Given the description of an element on the screen output the (x, y) to click on. 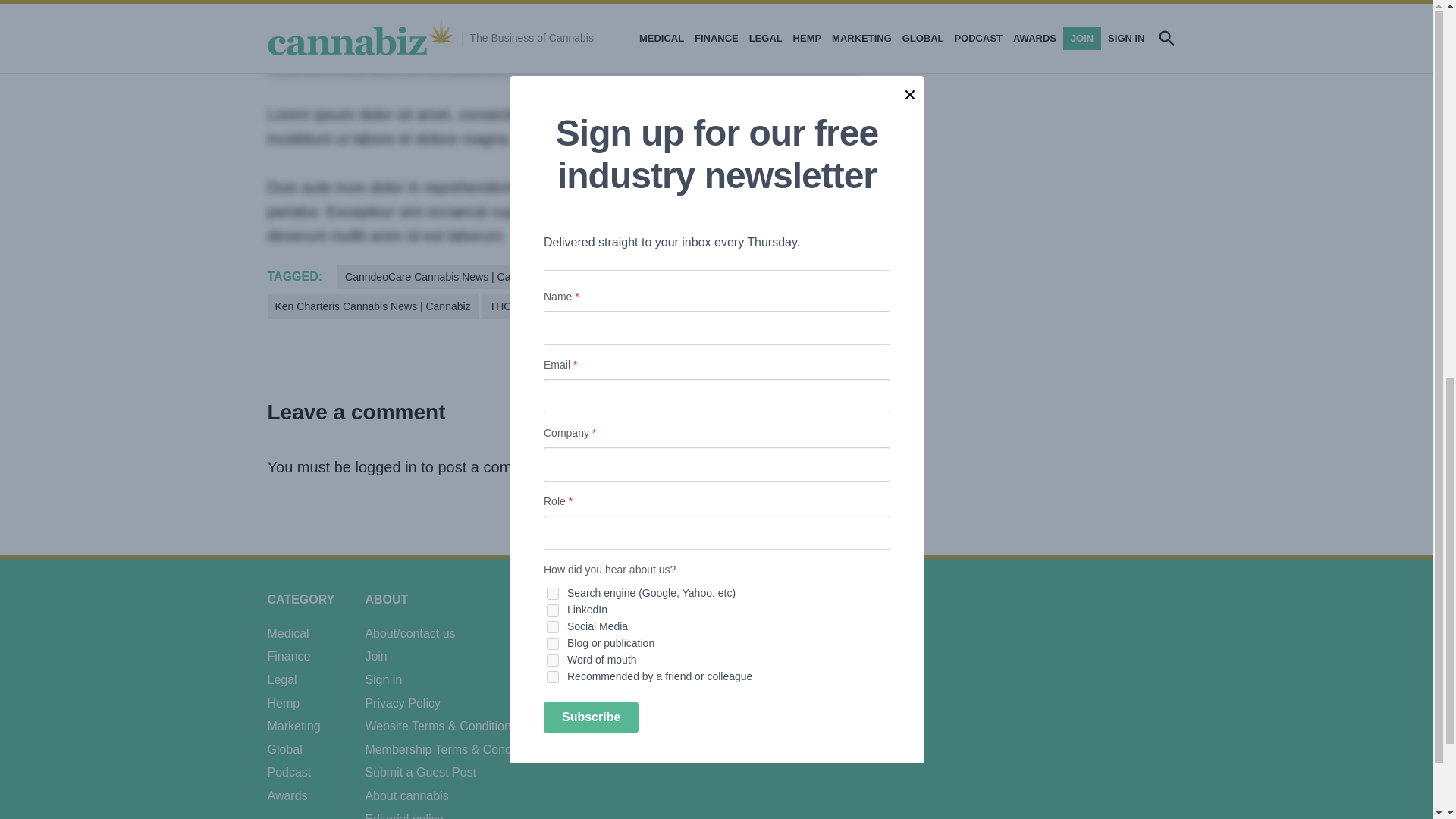
login (602, 35)
Join (521, 35)
Epsilon Healthcare (605, 276)
